Given the description of an element on the screen output the (x, y) to click on. 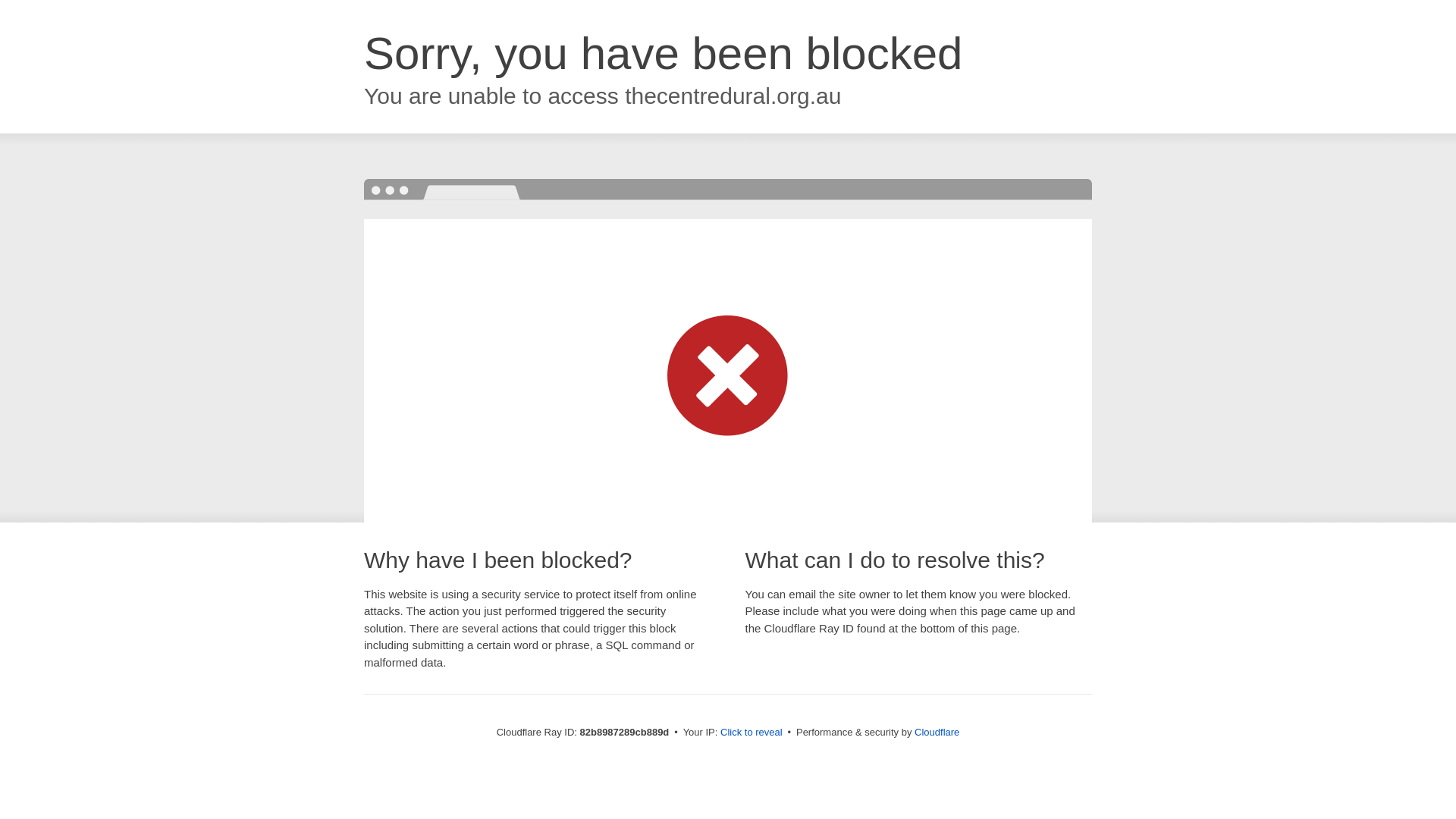
Click to reveal Element type: text (751, 732)
Cloudflare Element type: text (936, 731)
